Given the description of an element on the screen output the (x, y) to click on. 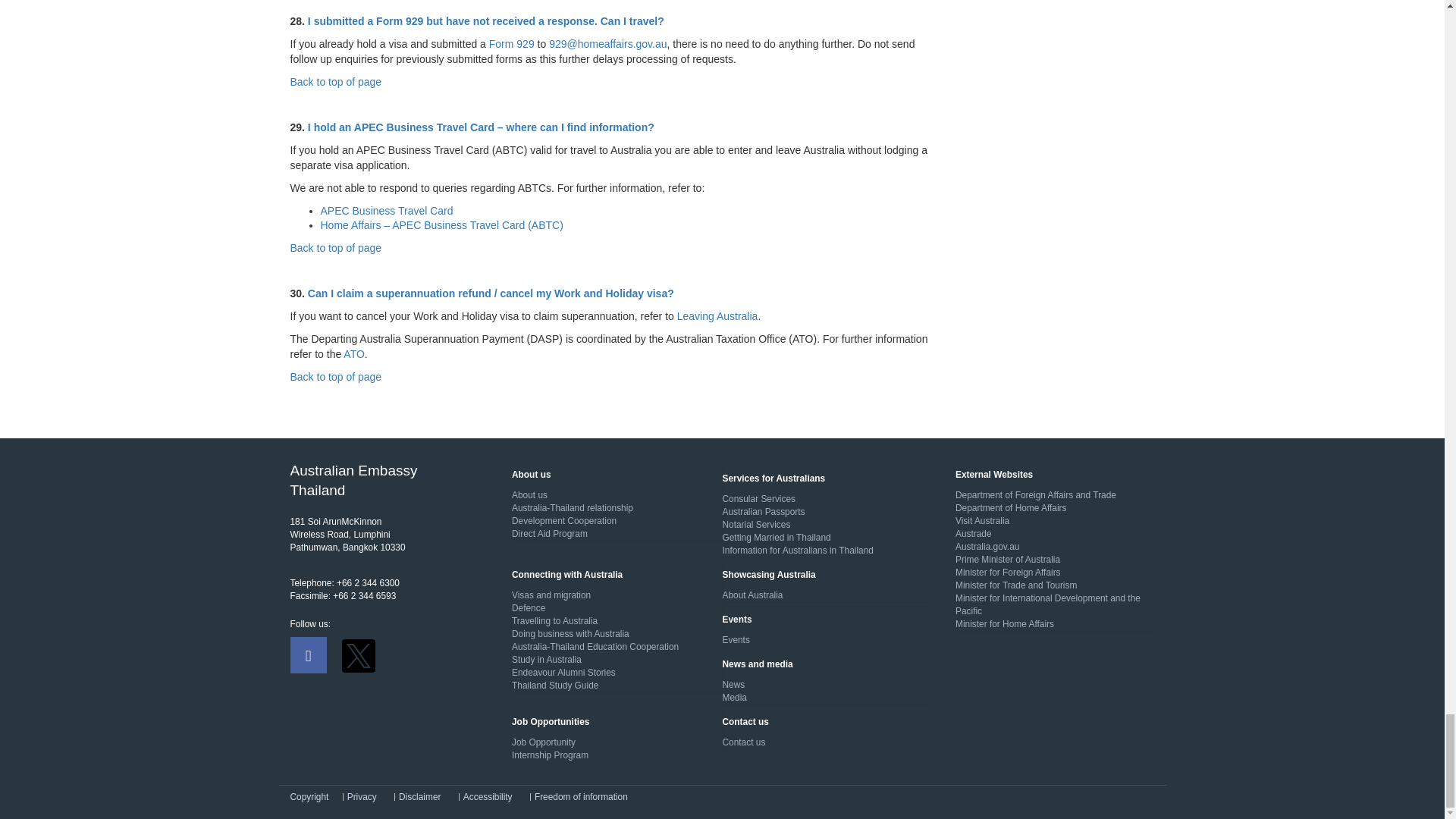
Facebook (307, 655)
Twitter (357, 655)
